Given the description of an element on the screen output the (x, y) to click on. 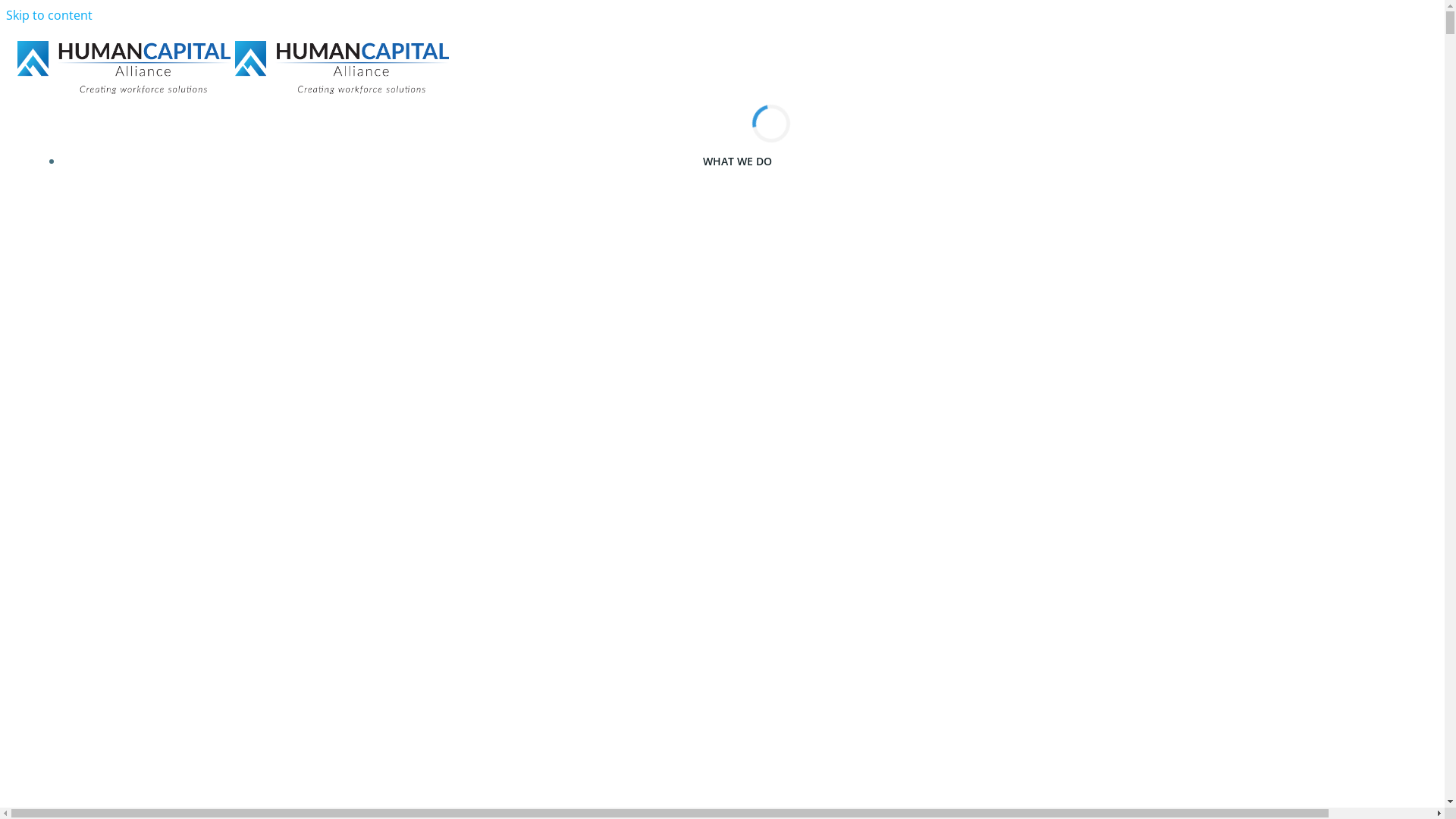
Skip to content Element type: text (49, 14)
